Given the description of an element on the screen output the (x, y) to click on. 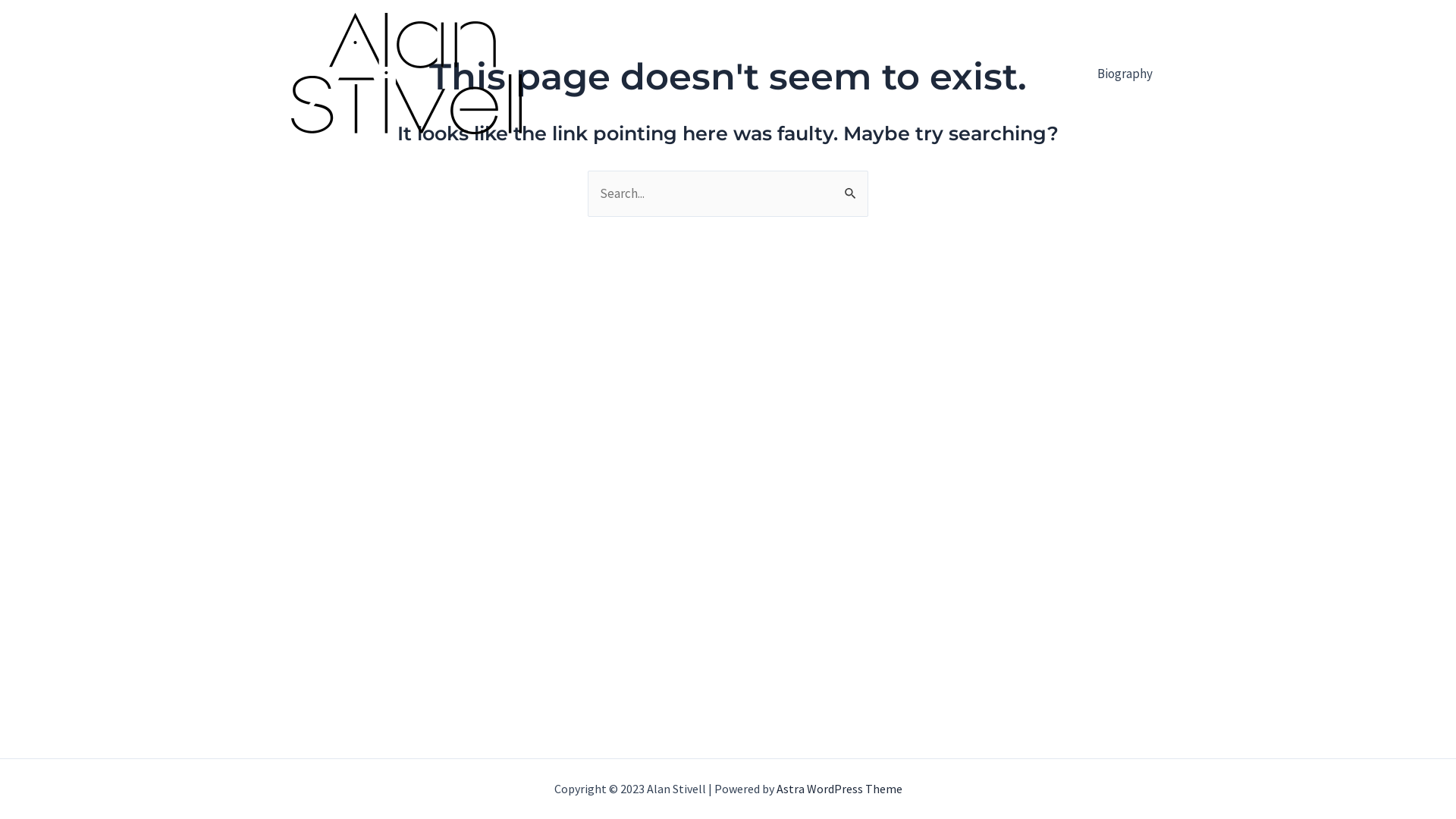
Search Element type: text (851, 186)
Astra WordPress Theme Element type: text (839, 788)
Biography Element type: text (1124, 73)
